Given the description of an element on the screen output the (x, y) to click on. 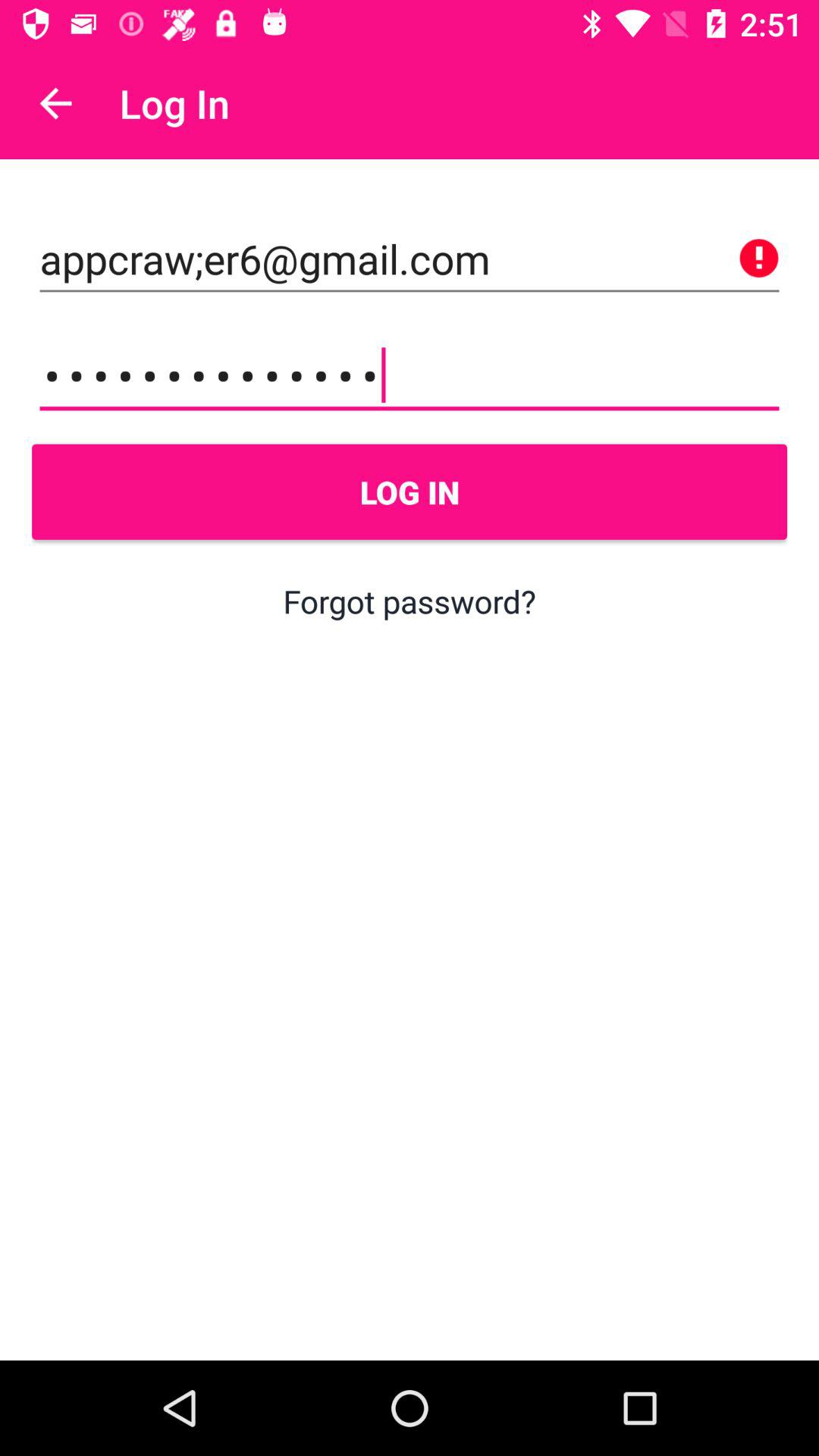
choose icon above the appcraw er6 gmail icon (55, 103)
